Given the description of an element on the screen output the (x, y) to click on. 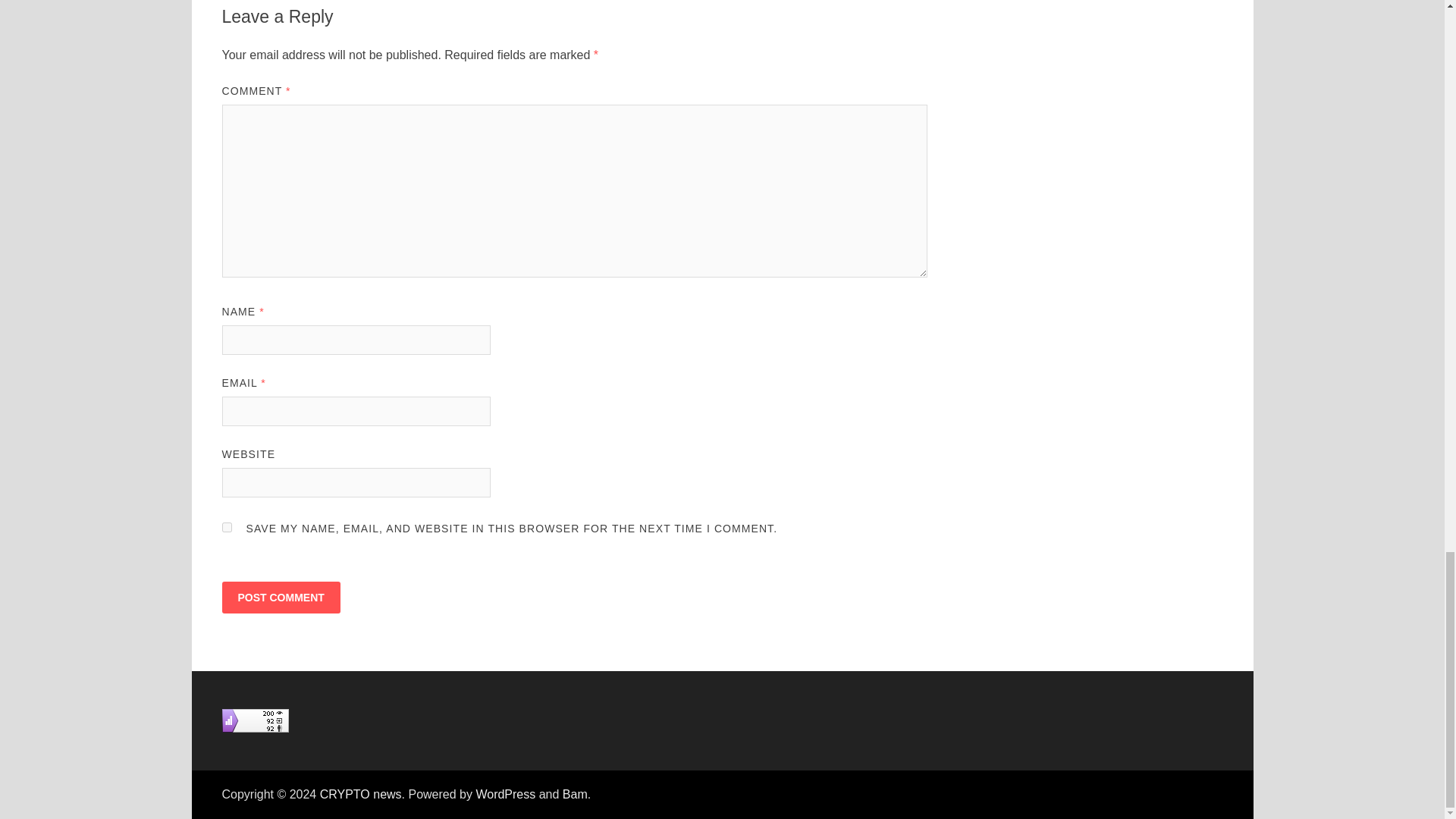
Post Comment (280, 597)
CRYPTO news (360, 793)
yes (226, 527)
